Given the description of an element on the screen output the (x, y) to click on. 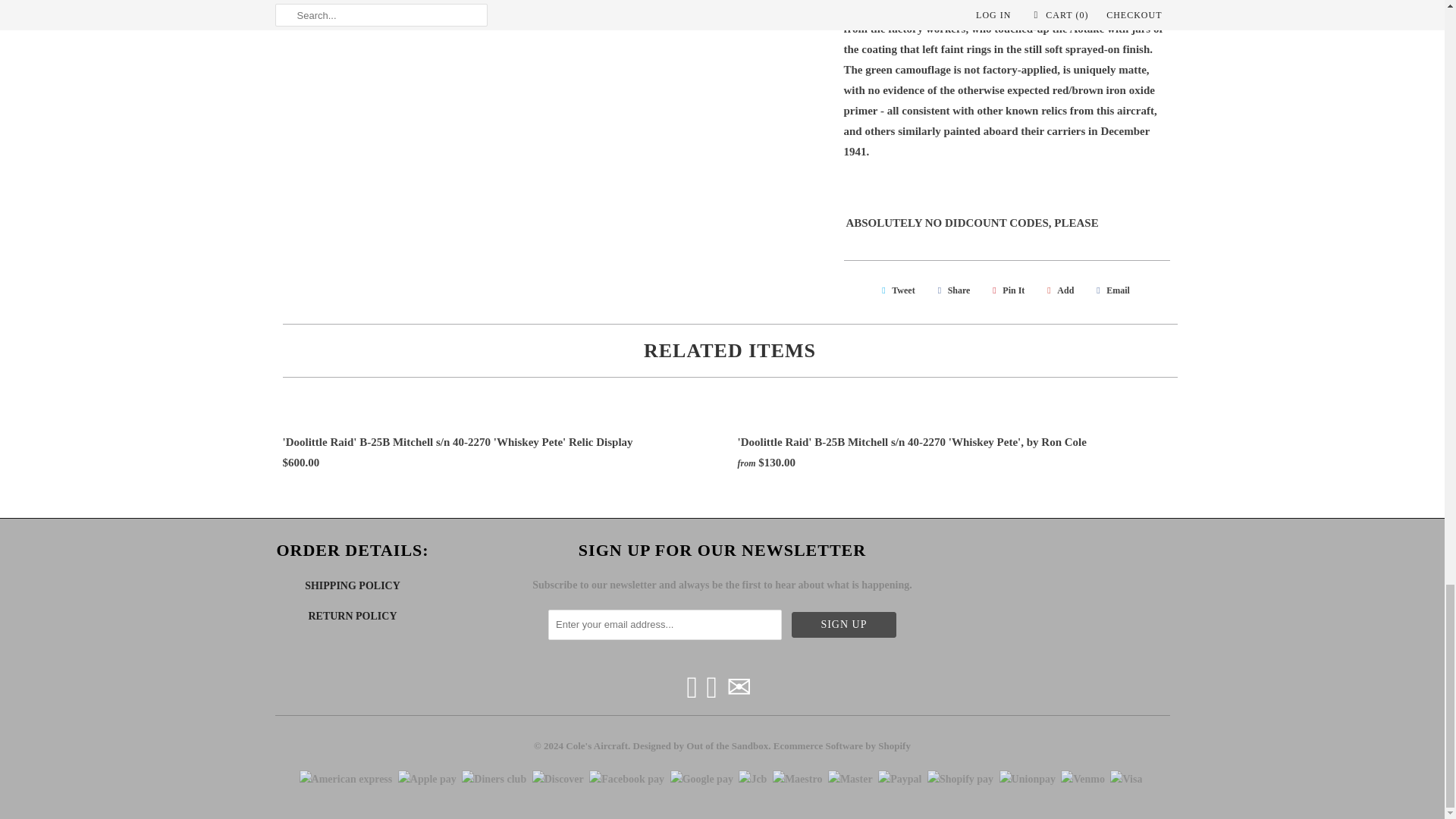
Cole's Aircraft (596, 740)
Share this on Twitter (896, 290)
Share this on Pinterest (1006, 290)
Tweet (896, 290)
Sign Up (844, 624)
Add (1058, 290)
SHIPPING POLICY (352, 585)
Designed by Out of the Sandbox (699, 740)
RETURN POLICY (351, 615)
Email (1110, 290)
